Given the description of an element on the screen output the (x, y) to click on. 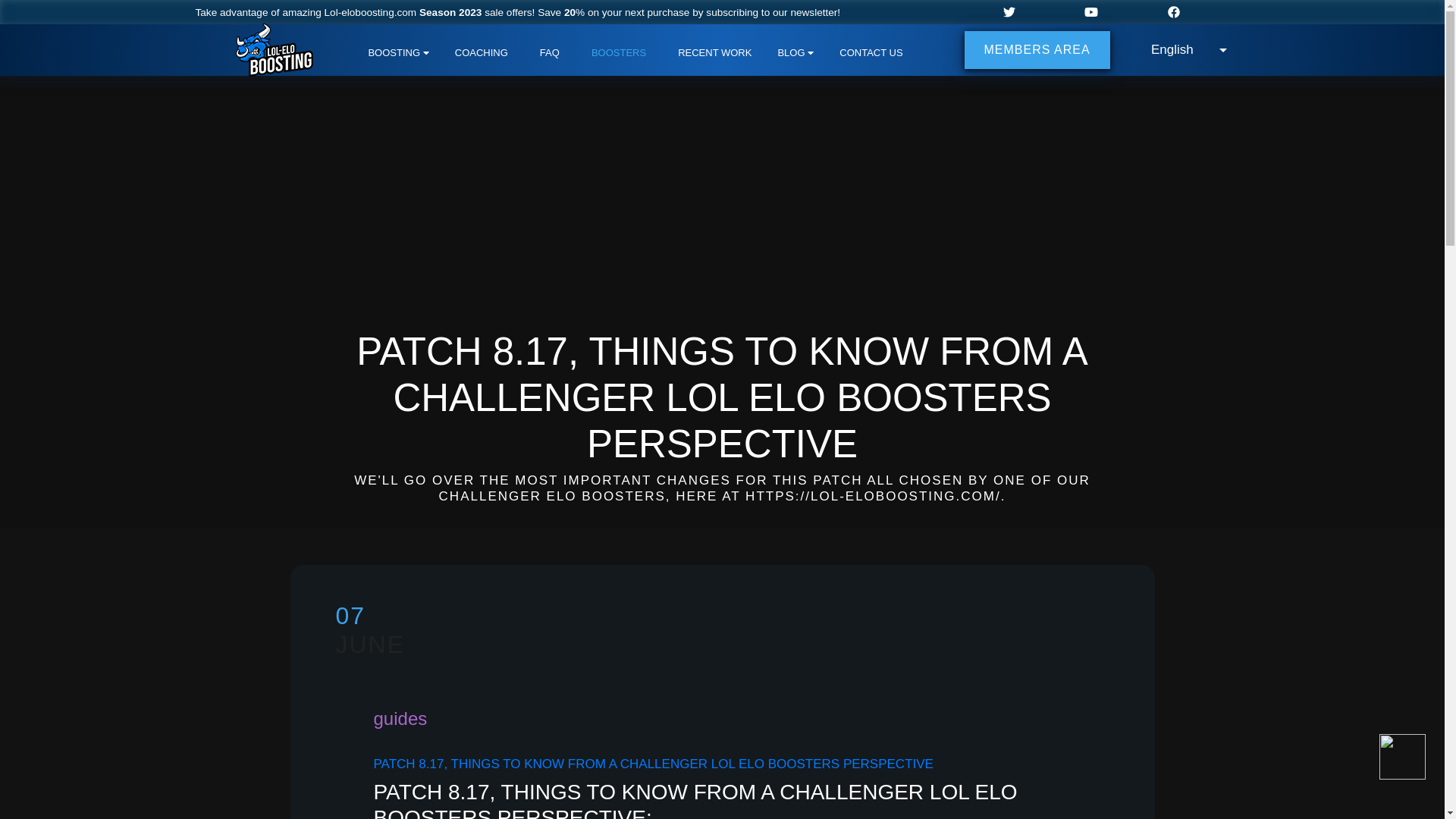
CONTACT US (870, 53)
BLOG (795, 53)
RECENT WORK (713, 53)
FAQ (549, 53)
COACHING (480, 53)
BOOSTERS (618, 53)
BOOSTING (397, 53)
MEMBERS AREA (1036, 49)
